Given the description of an element on the screen output the (x, y) to click on. 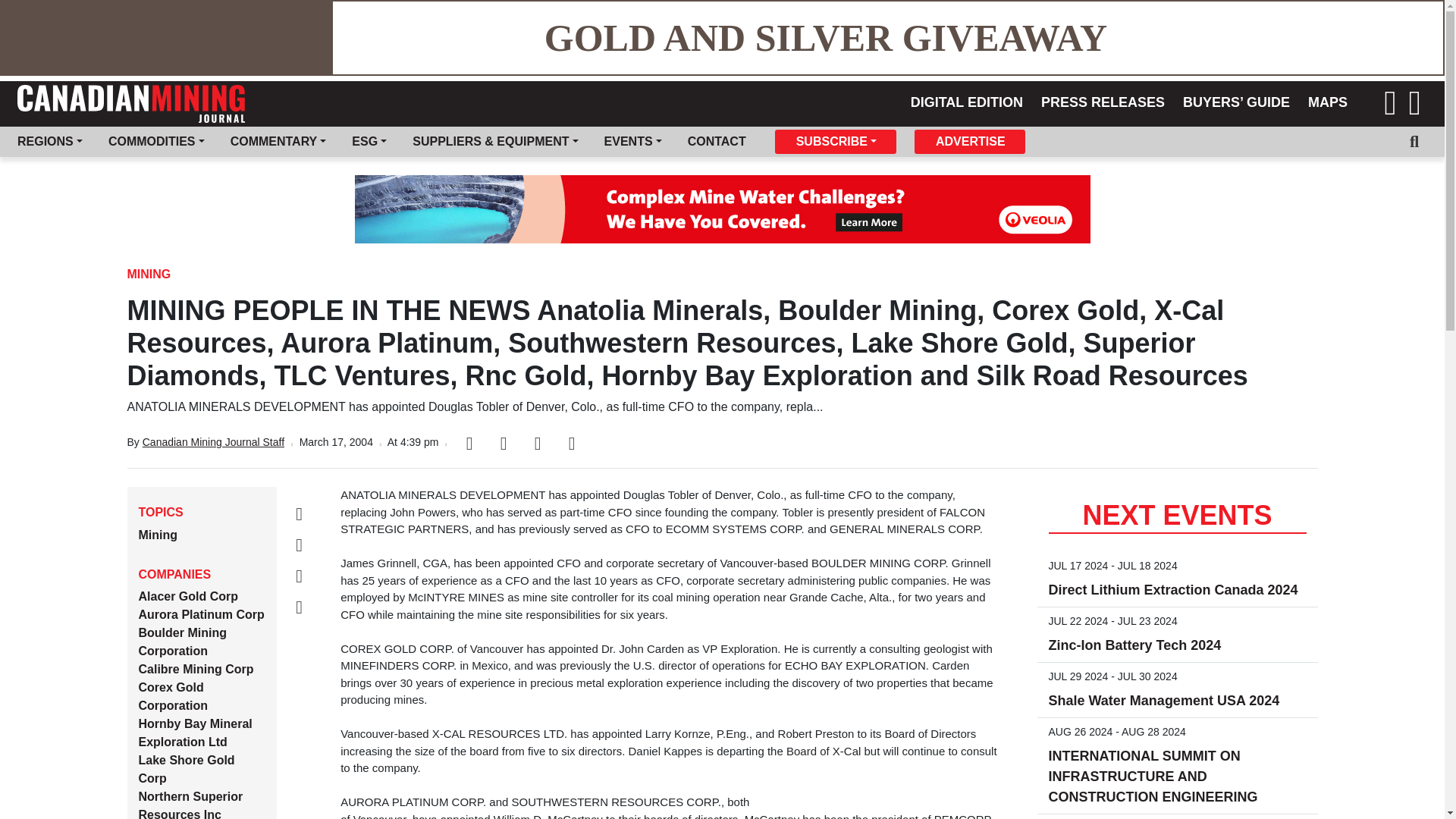
Permanent Link to Zinc-Ion Battery Tech 2024 (1134, 645)
Permanent Link to Shale Water Management USA 2024 (1163, 700)
DIGITAL EDITION (969, 102)
COMMENTARY (281, 141)
Permanent Link to Direct Lithium Extraction Canada 2024 (1172, 589)
ESG (372, 141)
COMMODITIES (158, 141)
EVENTS (636, 141)
REGIONS (52, 141)
PRESS RELEASES (1105, 102)
MAPS (1330, 102)
